Given the description of an element on the screen output the (x, y) to click on. 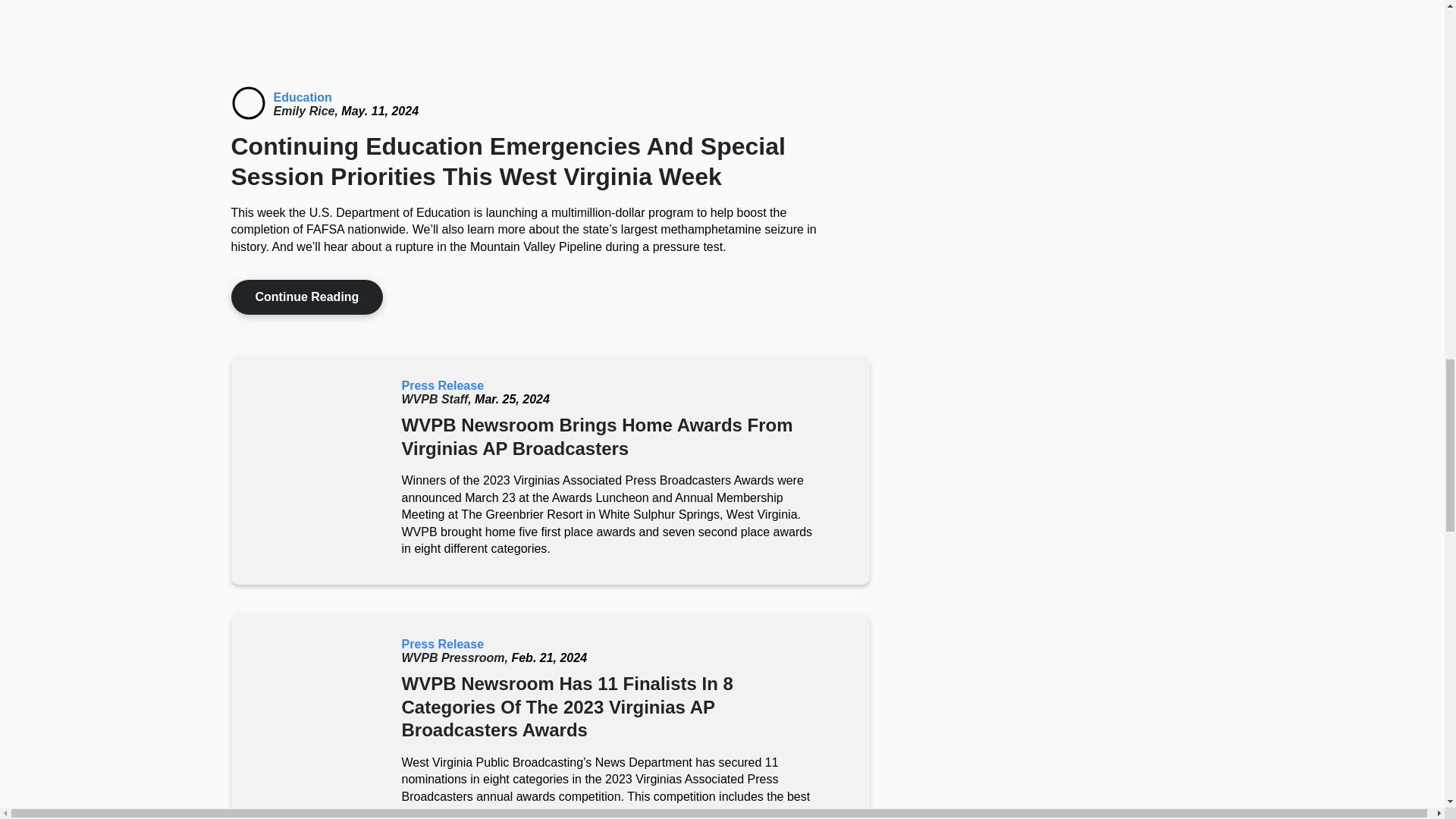
WVPB Pressroom (456, 657)
Emily Rice (306, 110)
WVPB Staff (438, 399)
